Given the description of an element on the screen output the (x, y) to click on. 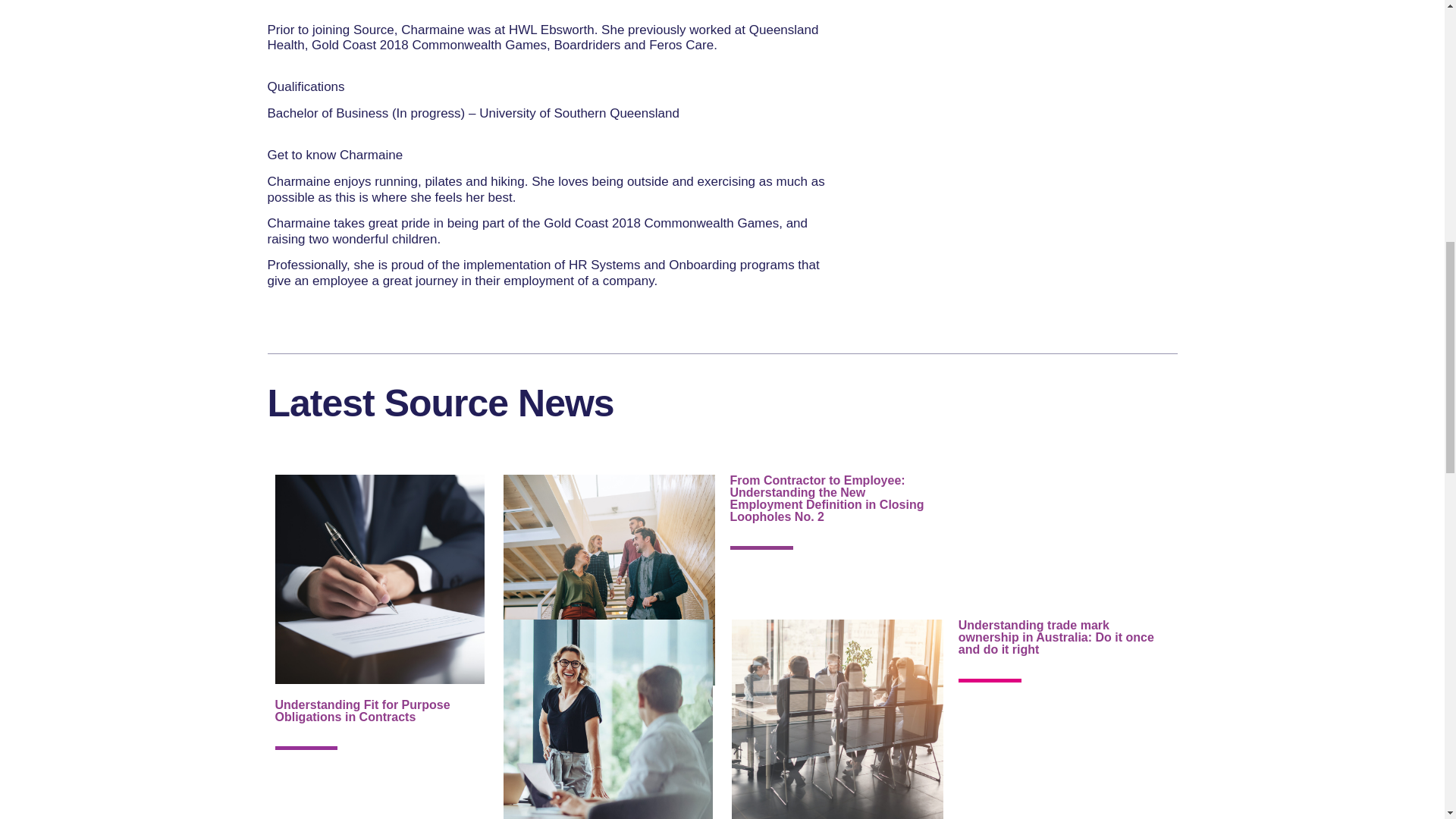
Businessman signs Paperwork (379, 579)
Corporate business team and manager in a meeting (837, 719)
